Given the description of an element on the screen output the (x, y) to click on. 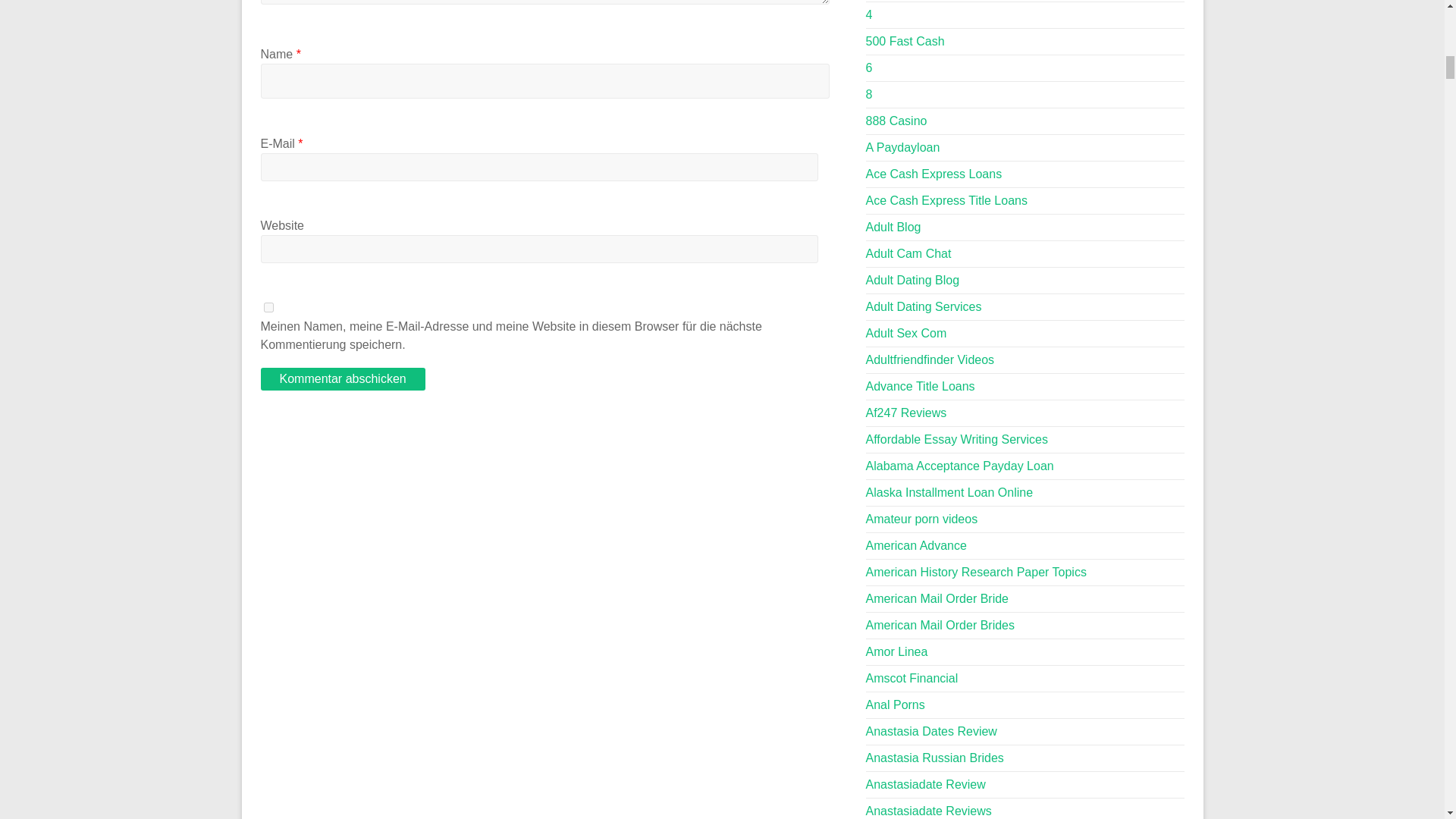
Kommentar abschicken (342, 378)
yes (268, 307)
Kommentar abschicken (342, 378)
